Given the description of an element on the screen output the (x, y) to click on. 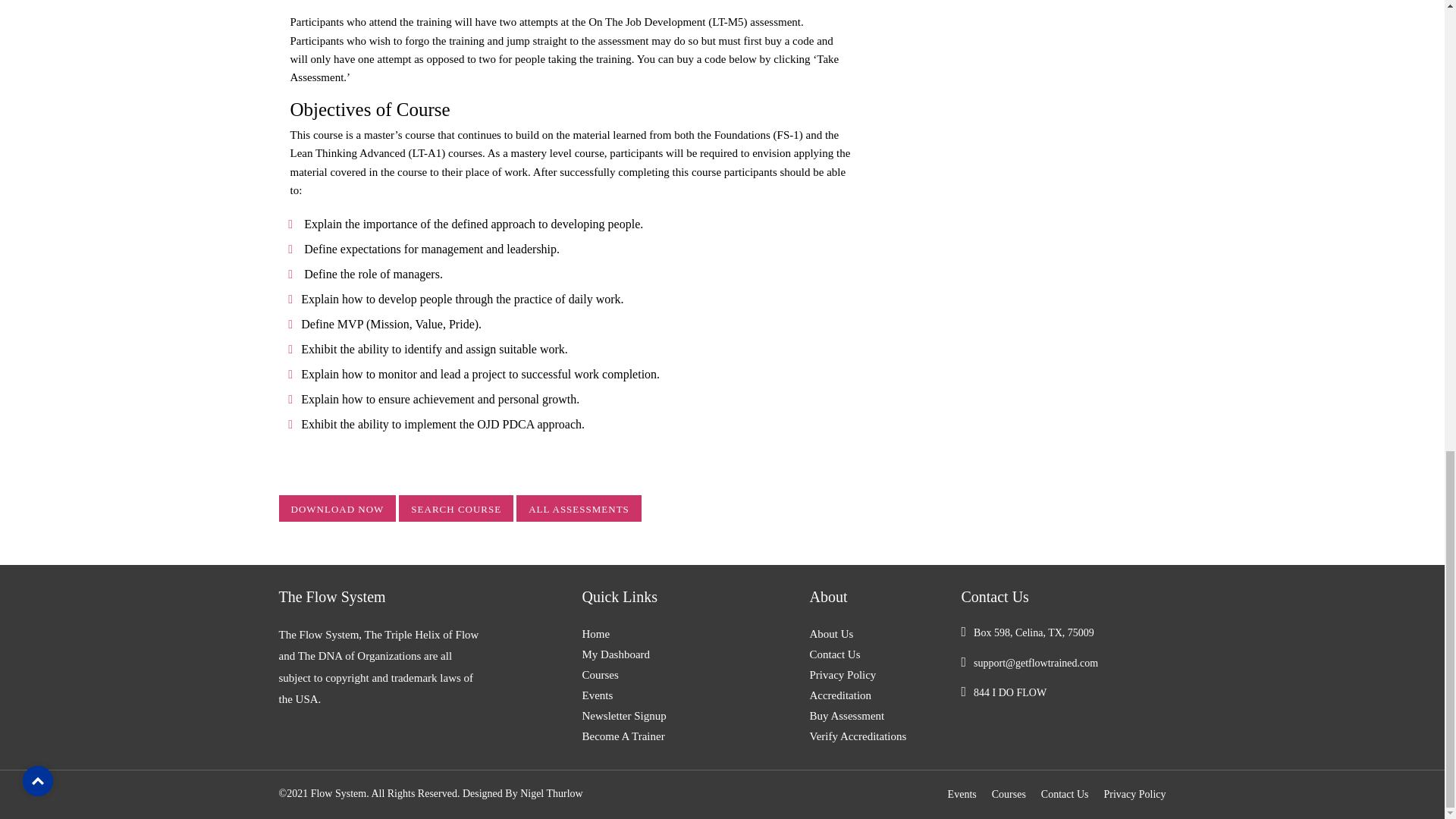
DOWNLOAD NOW (337, 508)
Home (645, 634)
Courses (645, 675)
ALL ASSESSMENTS (579, 508)
SEARCH COURSE (455, 508)
My Dashboard (645, 654)
Nigel Thurlow (551, 793)
